Given the description of an element on the screen output the (x, y) to click on. 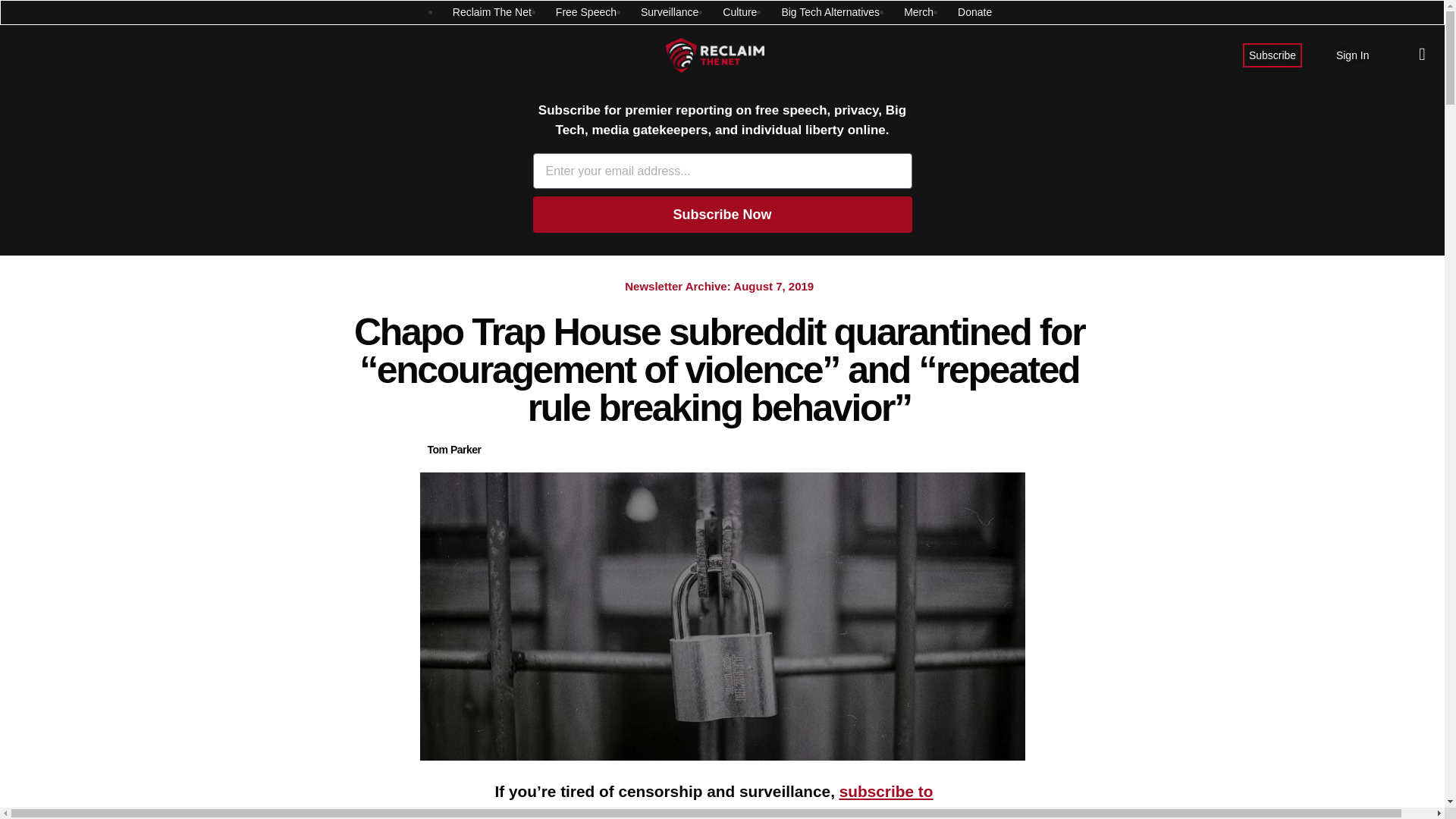
Merch (918, 12)
Subscribe Now (721, 214)
subscribe to Reclaim The Net. (714, 800)
Tom Parker (454, 449)
Reclaim The Net (491, 12)
Subscribe (1272, 55)
Donate (974, 12)
Surveillance (669, 12)
Big Tech Alternatives (829, 12)
Free Speech (585, 12)
Culture (739, 12)
Sign In (1353, 55)
